Given the description of an element on the screen output the (x, y) to click on. 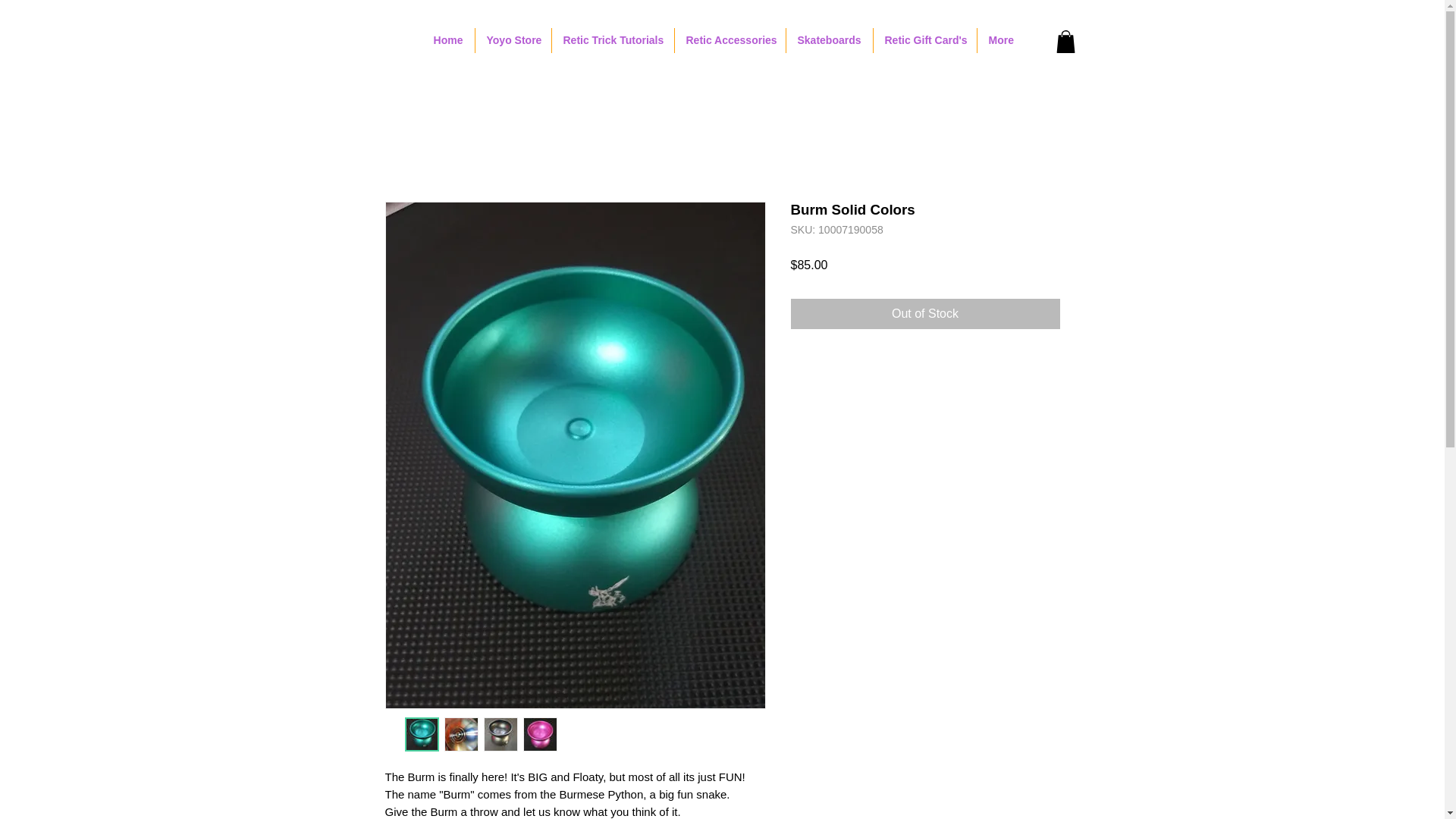
Yoyo Store (512, 40)
Retic Accessories (730, 40)
Out of Stock (924, 313)
Retic Gift Card's (924, 40)
Home (448, 40)
Retic Trick Tutorials (612, 40)
Skateboards (829, 40)
